Given the description of an element on the screen output the (x, y) to click on. 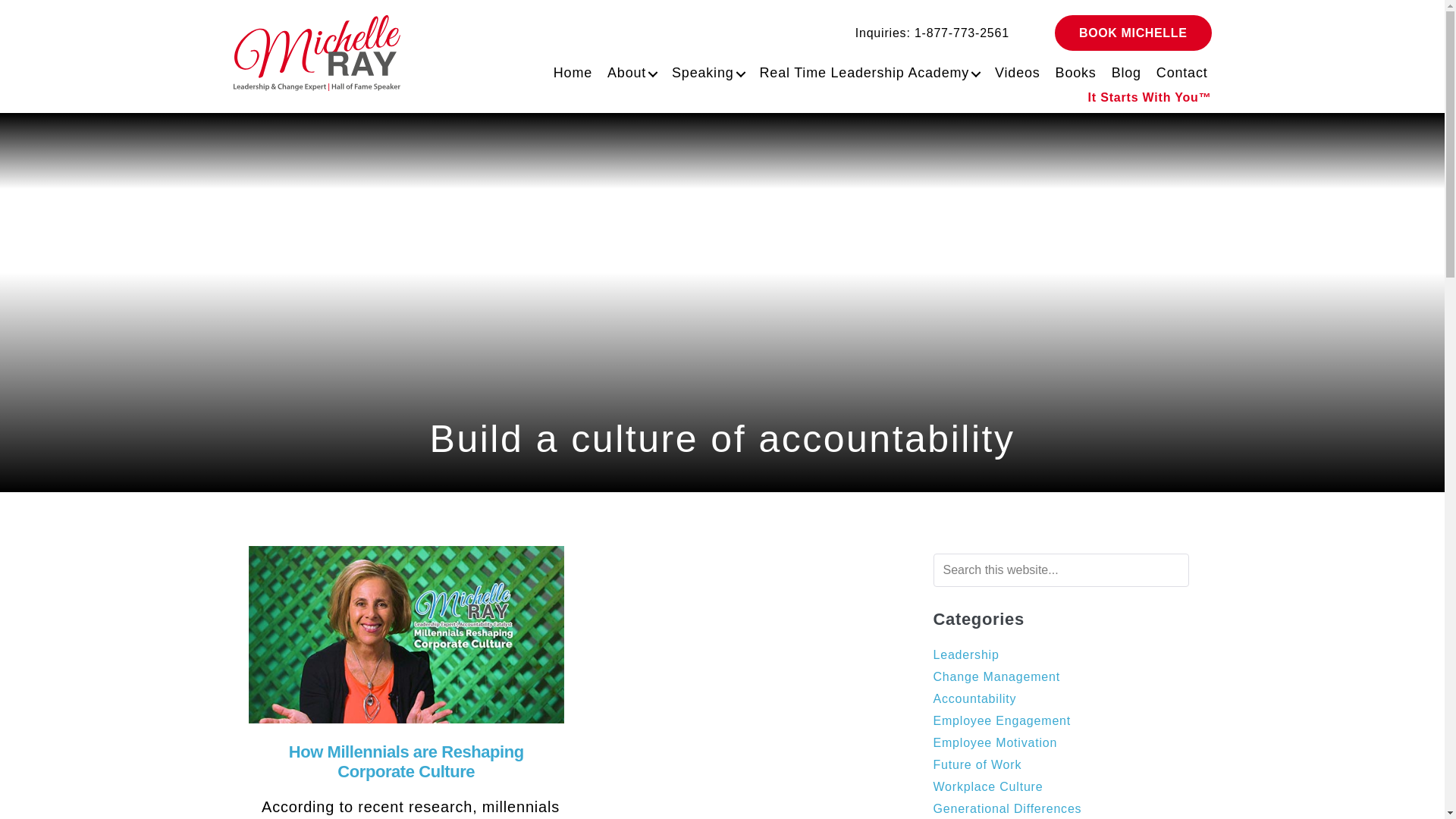
Books (1072, 70)
Real Time Leadership Academy (866, 70)
How Millennials are Reshaping Corporate Culture (406, 761)
Home (569, 70)
Speaking (704, 70)
How Millennials are Reshaping Corporate Culture (406, 632)
About (628, 70)
Videos (1013, 70)
BOOK MICHELLE (1132, 32)
